Given the description of an element on the screen output the (x, y) to click on. 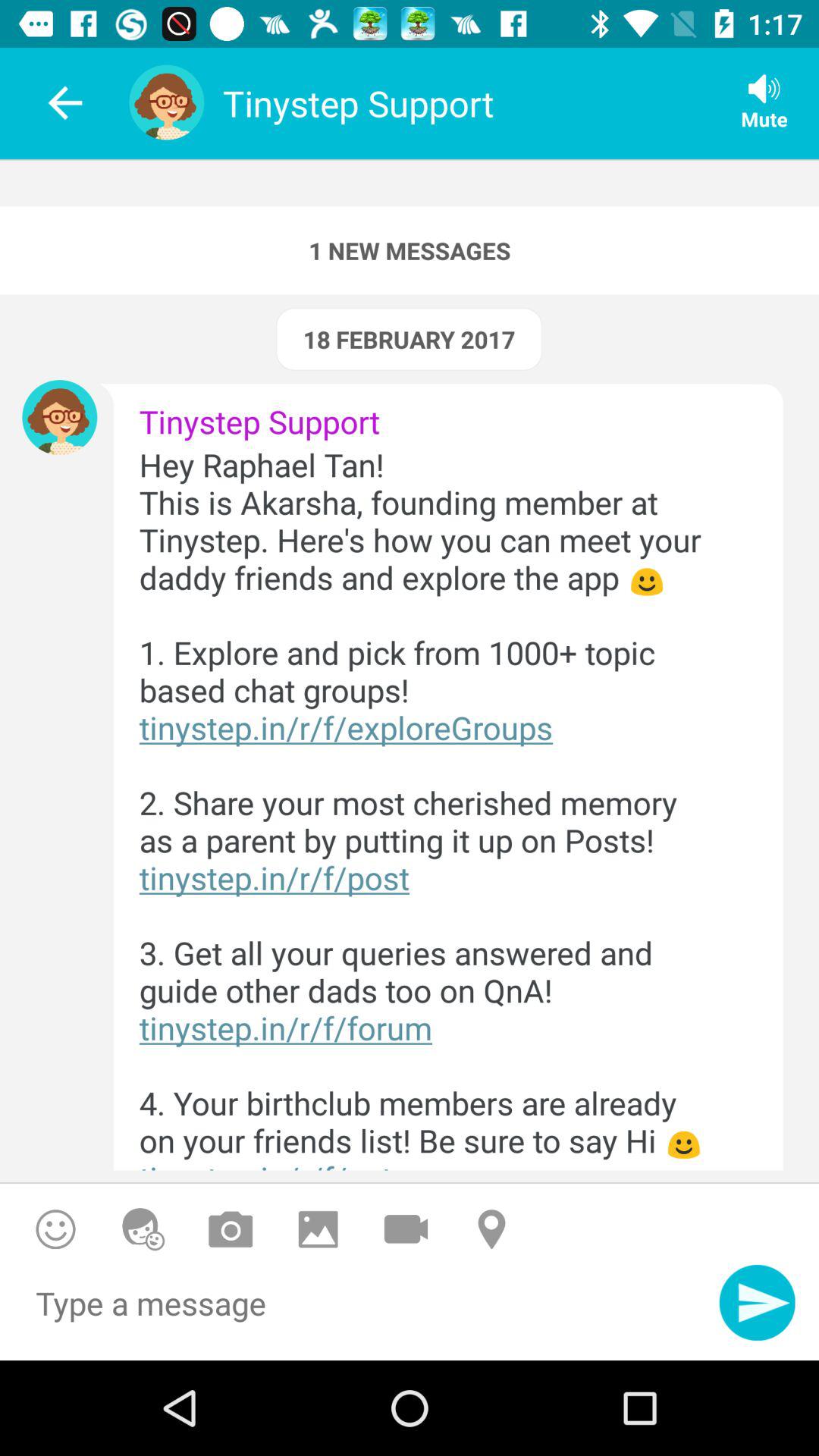
tap the icon below tinystep support item (435, 806)
